Given the description of an element on the screen output the (x, y) to click on. 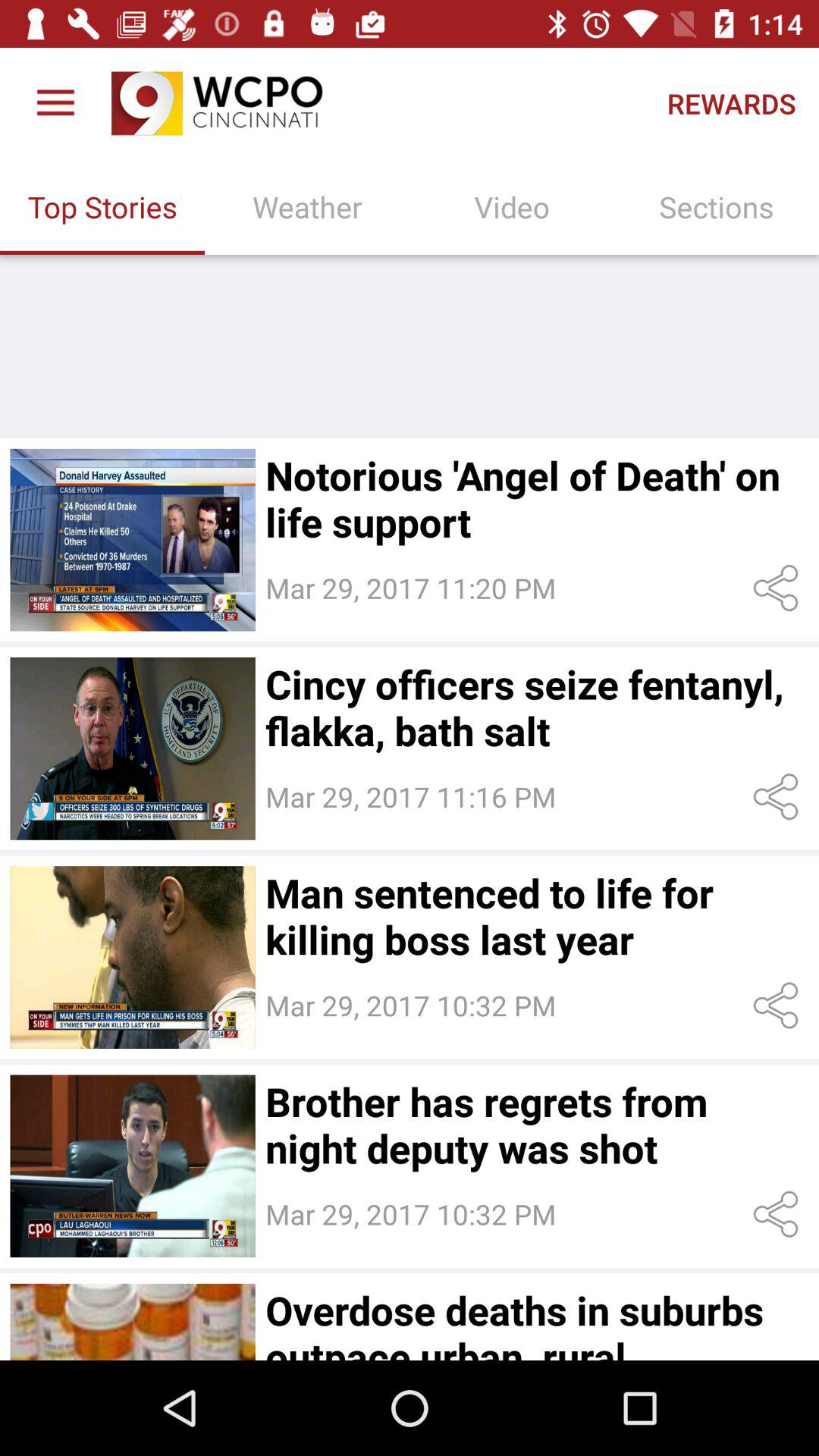
share article (778, 1214)
